Given the description of an element on the screen output the (x, y) to click on. 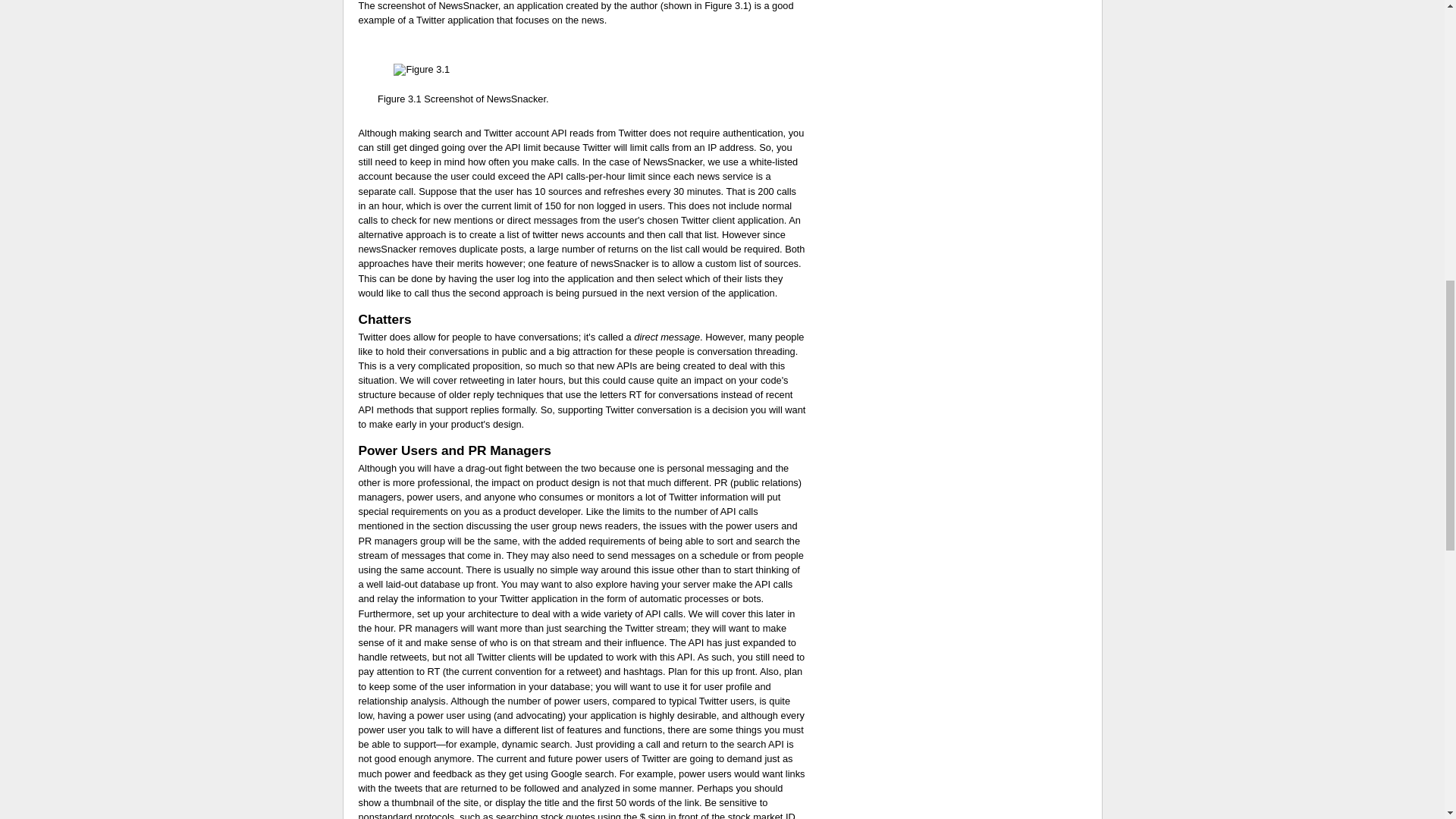
Figure 3.1 (726, 5)
Figure 3.1 (399, 98)
